Given the description of an element on the screen output the (x, y) to click on. 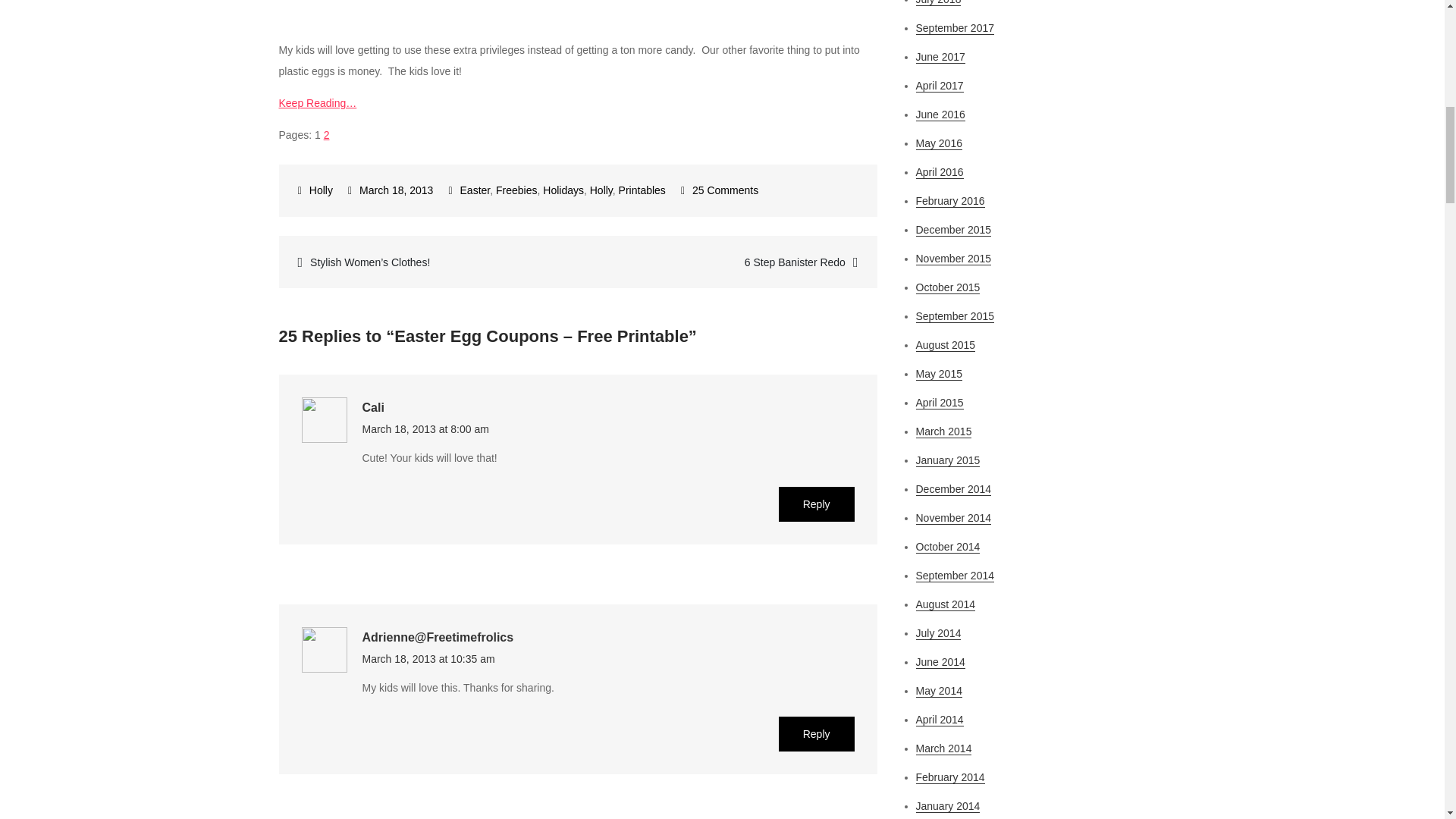
Holly (600, 190)
Printables (641, 190)
Holly (315, 190)
Freebies (516, 190)
Holidays (563, 190)
March 18, 2013 (389, 190)
Easter (475, 190)
